Given the description of an element on the screen output the (x, y) to click on. 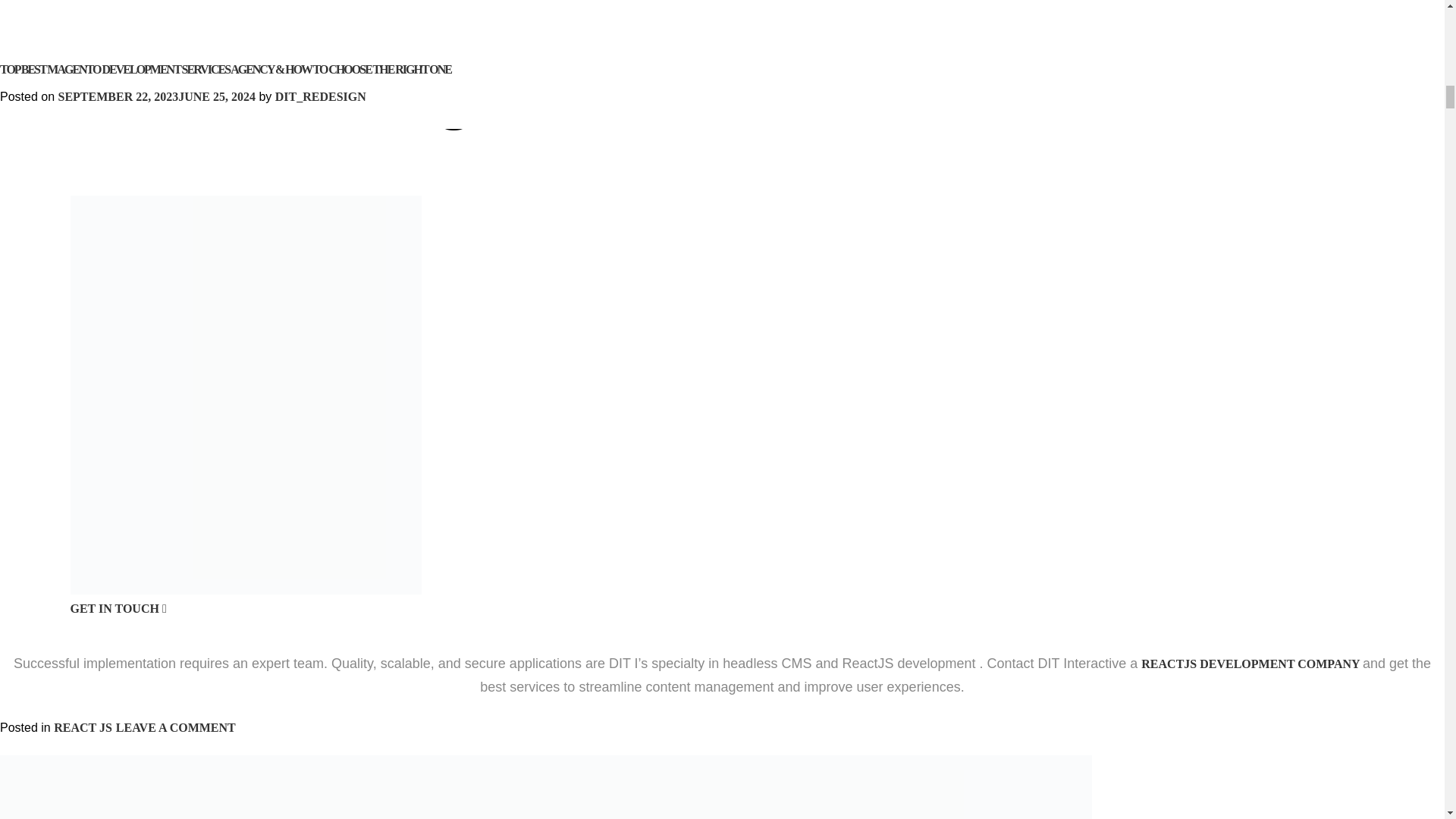
REACT JS (82, 727)
REACTJS DEVELOPMENT COMPANY (1251, 663)
